Given the description of an element on the screen output the (x, y) to click on. 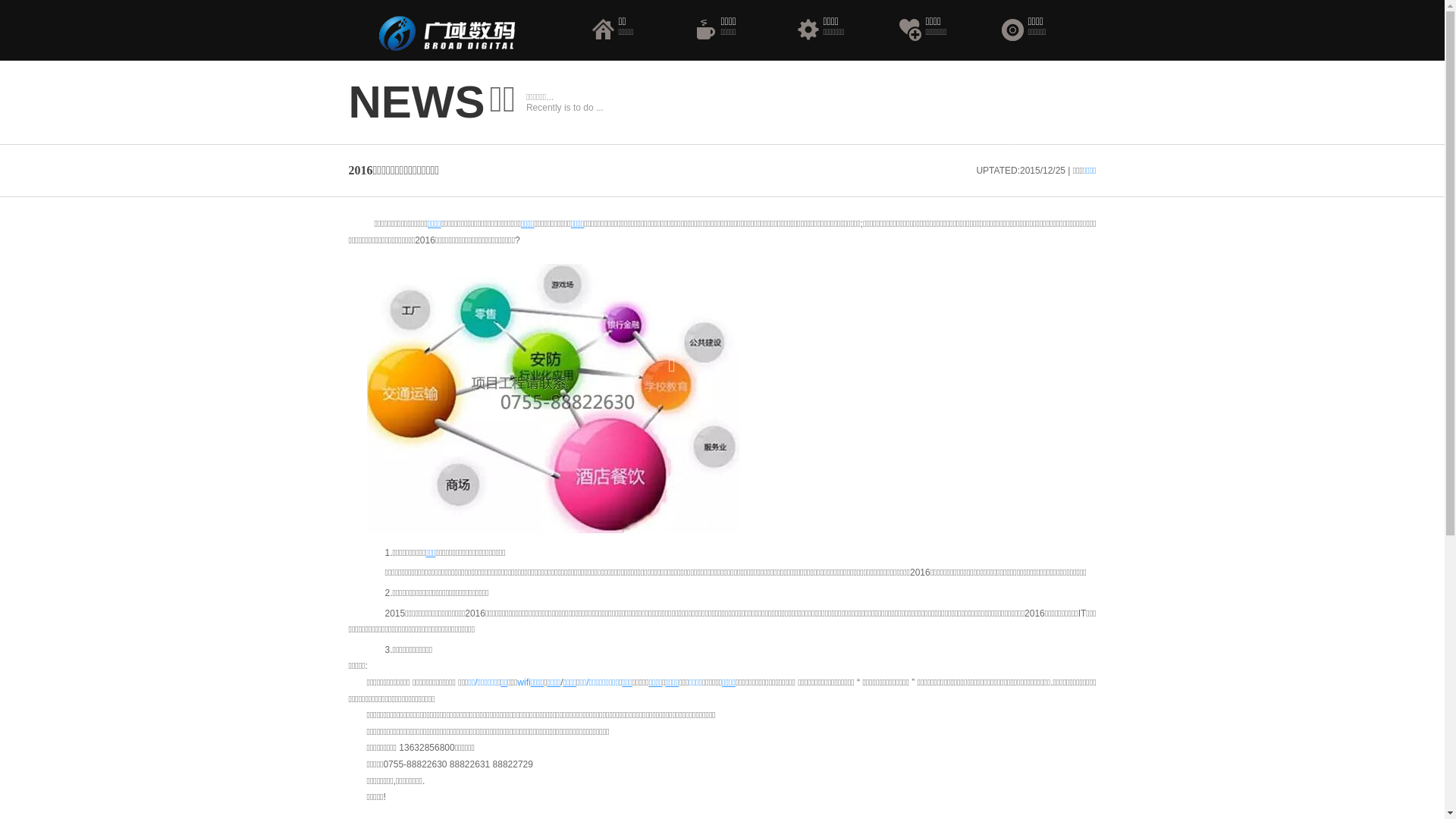
wifi Element type: text (523, 682)
